Given the description of an element on the screen output the (x, y) to click on. 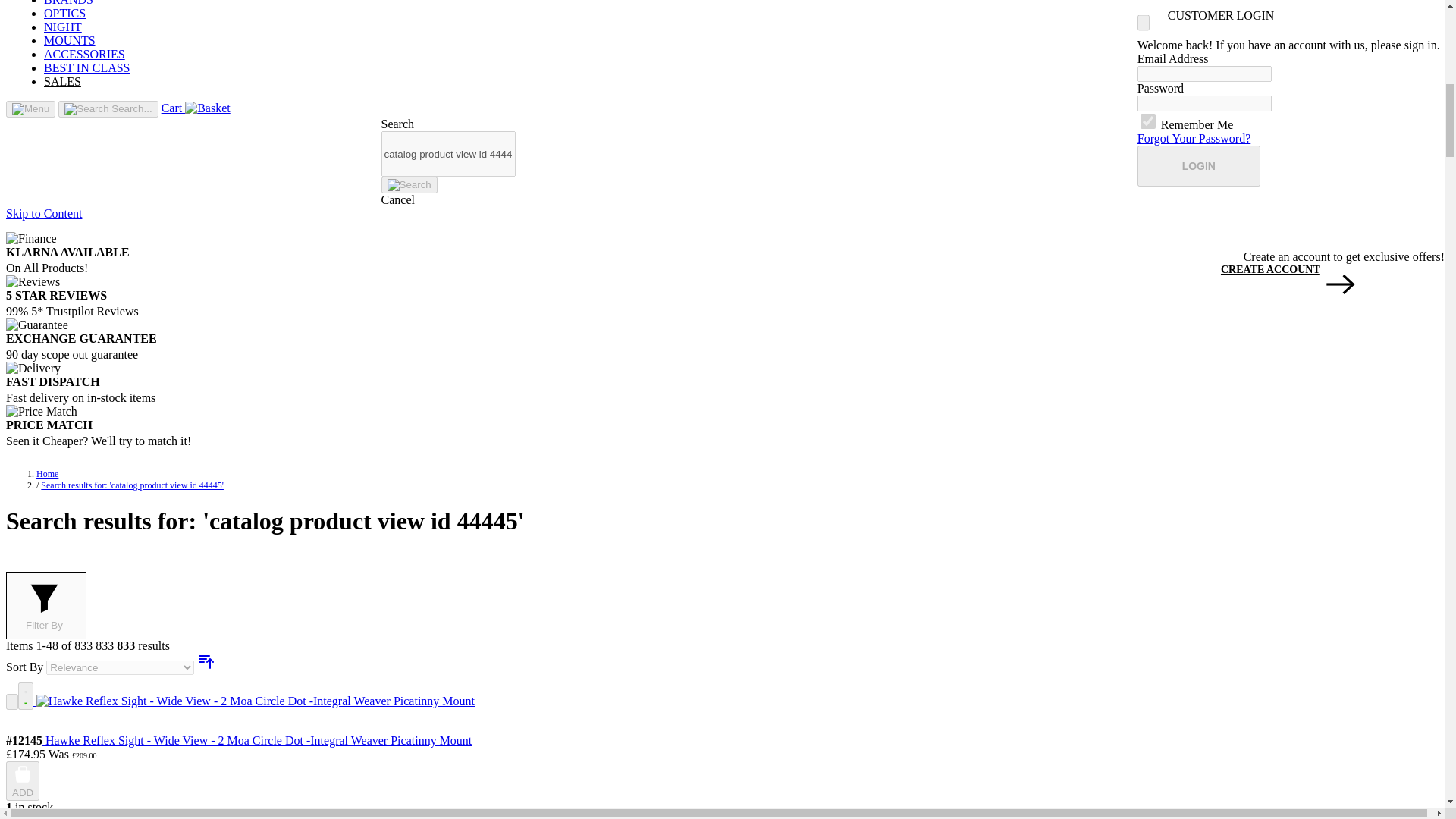
Go to Home Page (47, 473)
sort-ascending (205, 661)
Set Ascending Direction (205, 666)
catalog product view id 44445 (447, 153)
Search (408, 184)
